Given the description of an element on the screen output the (x, y) to click on. 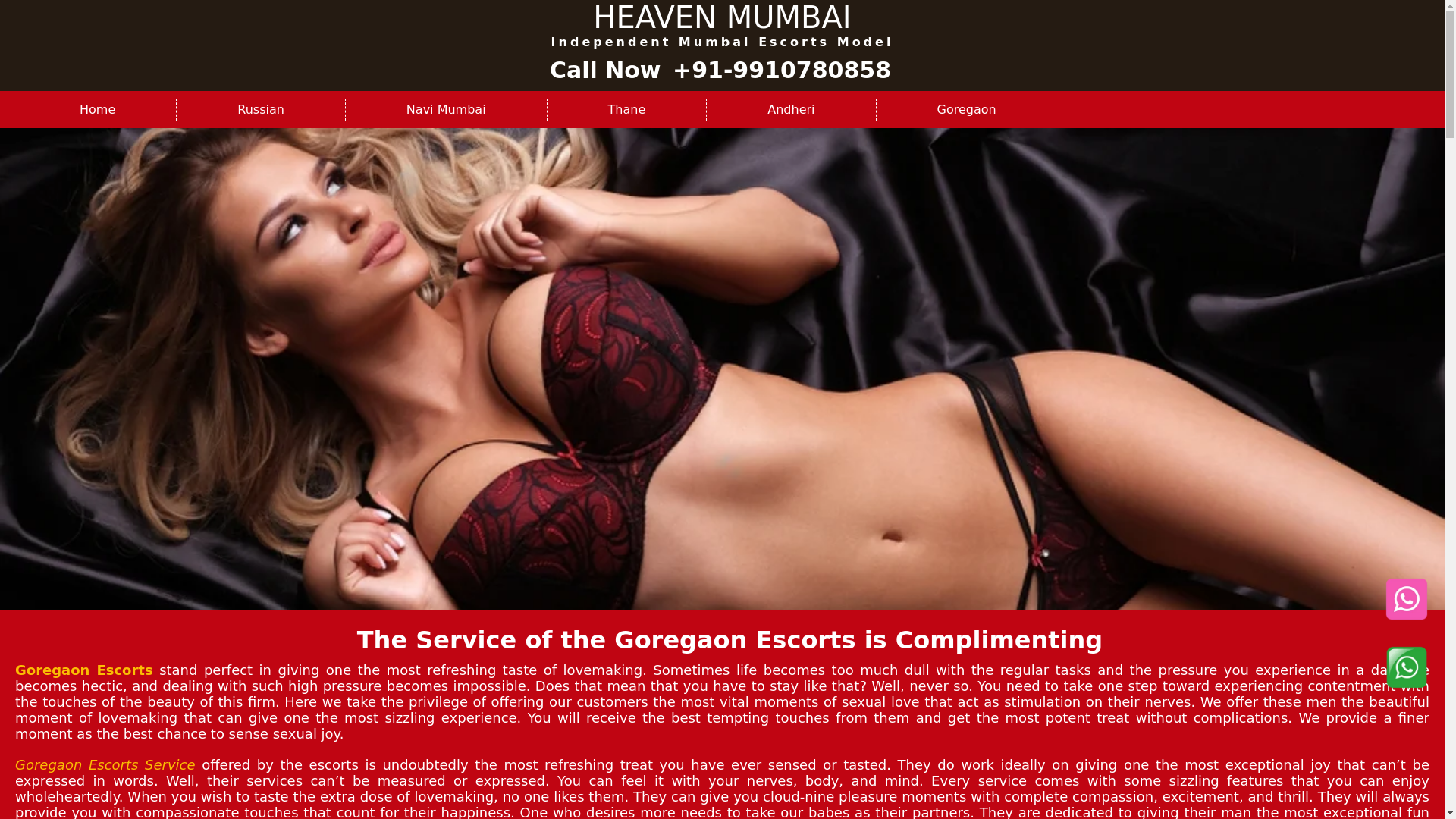
Andheri (790, 109)
Thane (626, 109)
Navi Mumbai (446, 109)
Home (97, 109)
Goregaon Escorts Service (104, 764)
Russian (260, 109)
Goregaon Escorts (83, 669)
Chat with me (1406, 598)
Goregaon (966, 109)
